Given the description of an element on the screen output the (x, y) to click on. 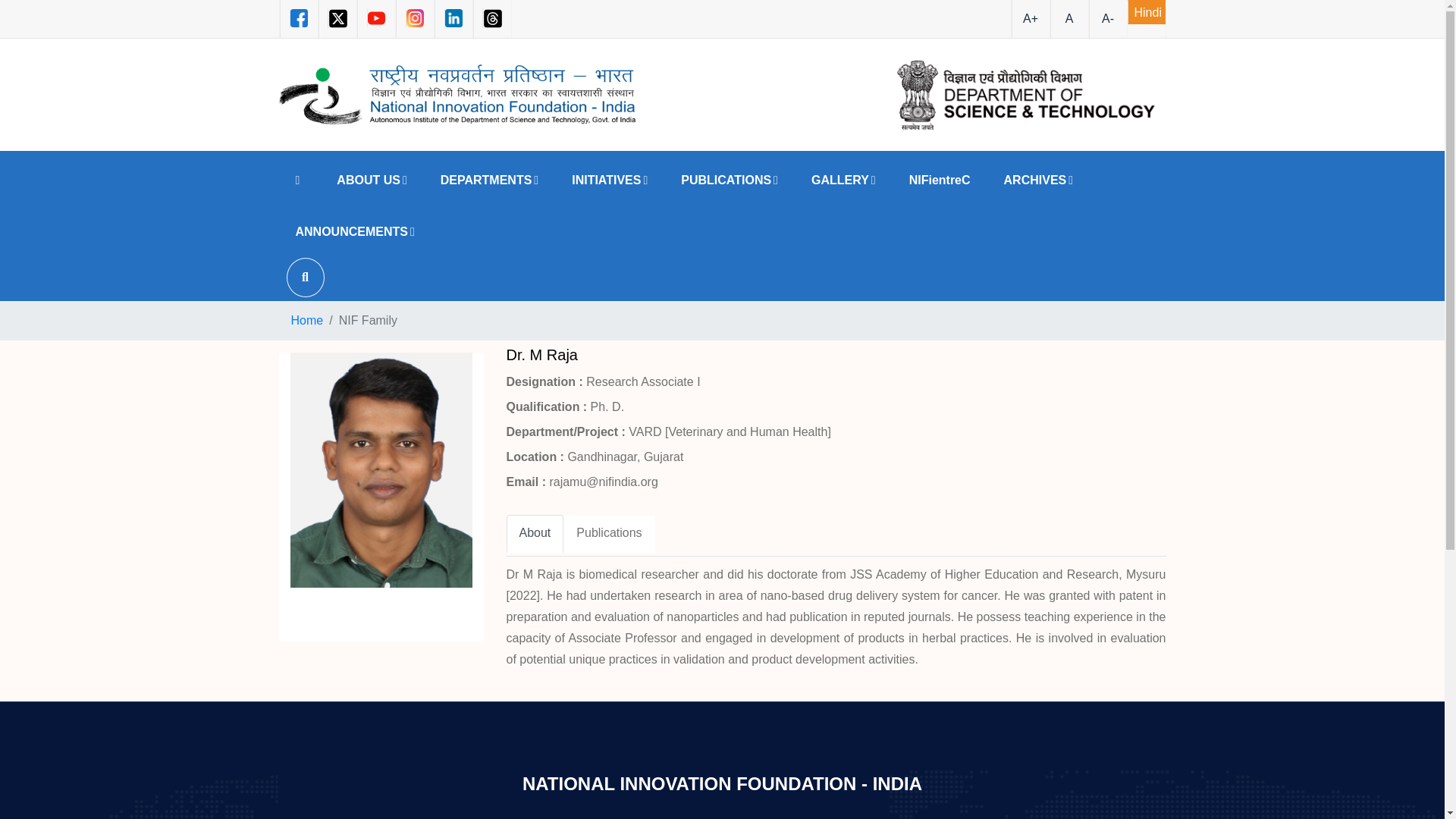
A (1068, 18)
DEPARTMENTS (488, 180)
INITIATIVES (608, 180)
A- (1107, 18)
ABOUT US (371, 180)
Hindi (1145, 12)
